Given the description of an element on the screen output the (x, y) to click on. 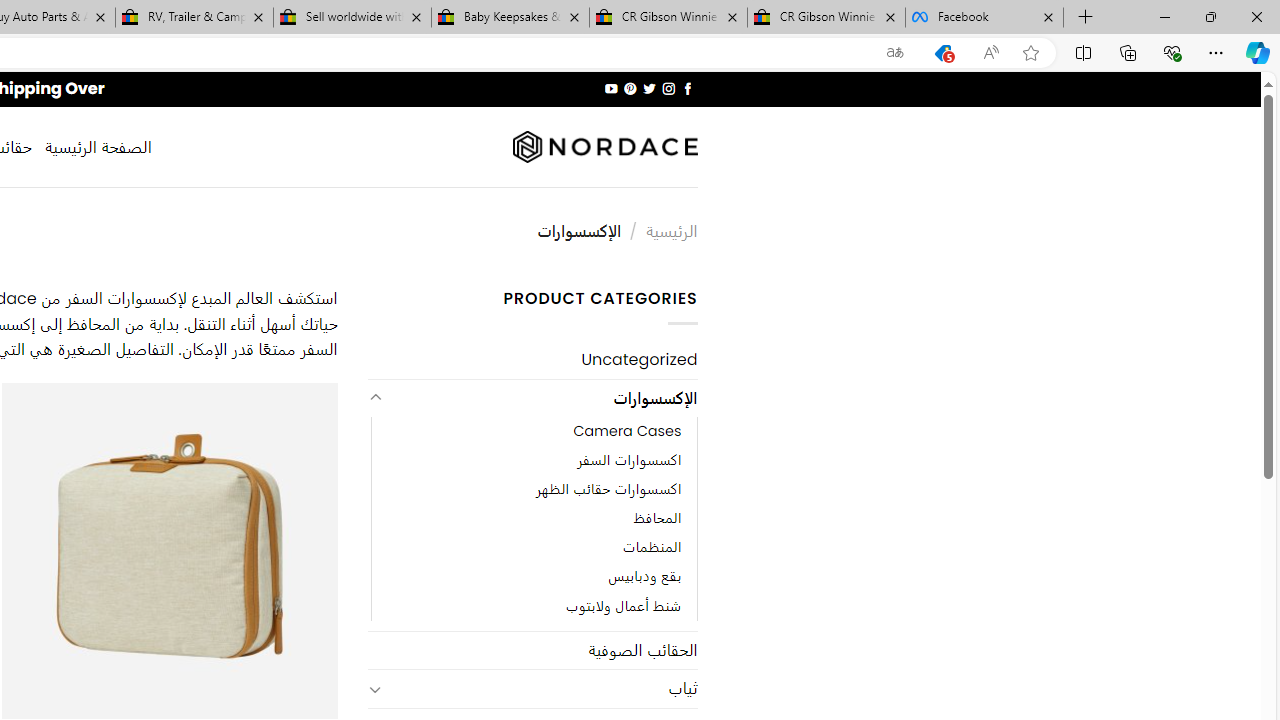
RV, Trailer & Camper Steps & Ladders for sale | eBay (194, 17)
This site has coupons! Shopping in Microsoft Edge, 5 (943, 53)
Browser essentials (1171, 52)
Uncategorized (532, 359)
Read aloud this page (Ctrl+Shift+U) (991, 53)
Follow on YouTube (611, 88)
Nordace (604, 147)
Camera Cases (627, 431)
